Given the description of an element on the screen output the (x, y) to click on. 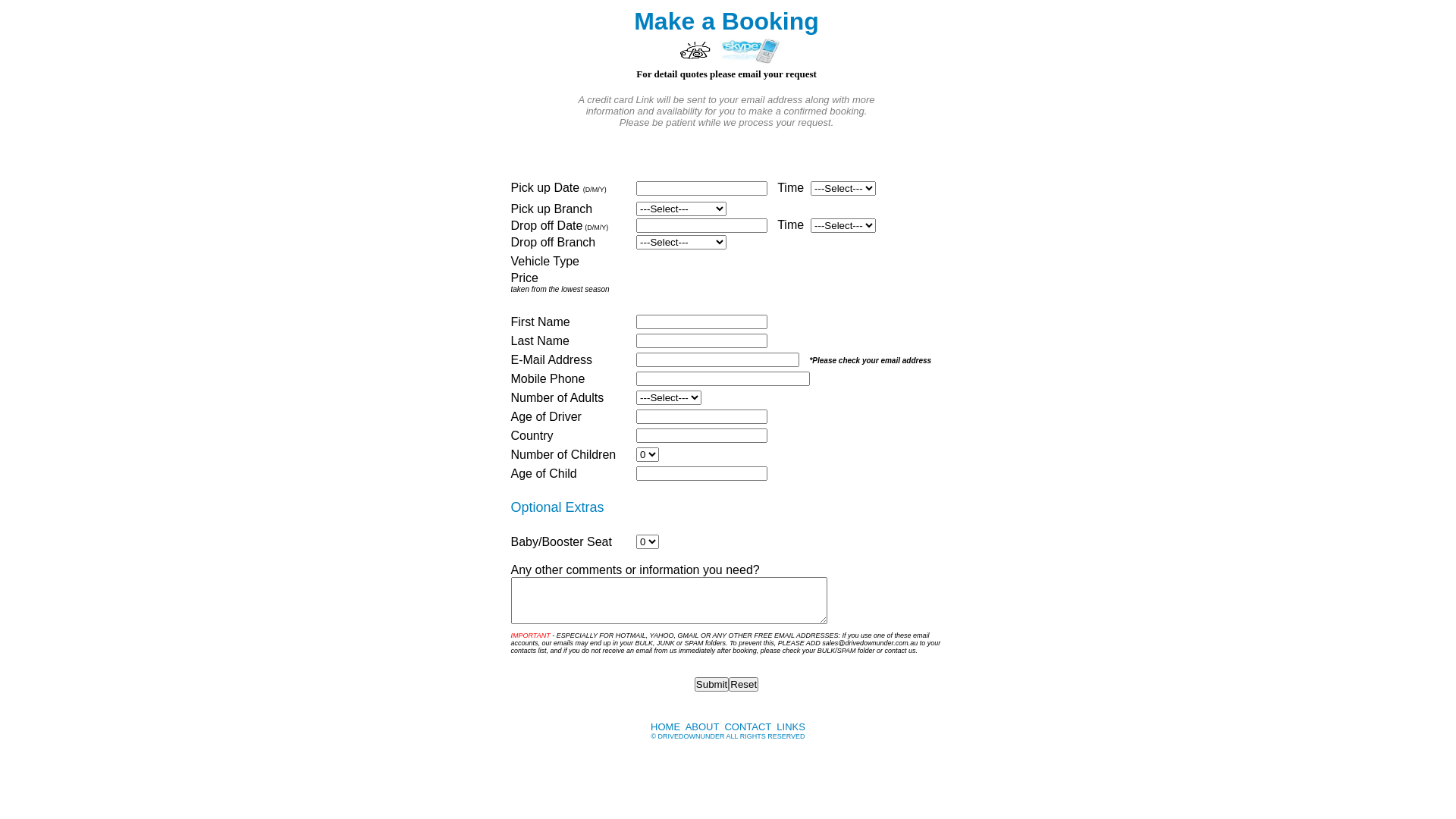
HOME Element type: text (665, 725)
Submit Element type: text (711, 683)
ABOUT Element type: text (702, 725)
CONTACT Element type: text (747, 725)
LINKS Element type: text (790, 726)
